Given the description of an element on the screen output the (x, y) to click on. 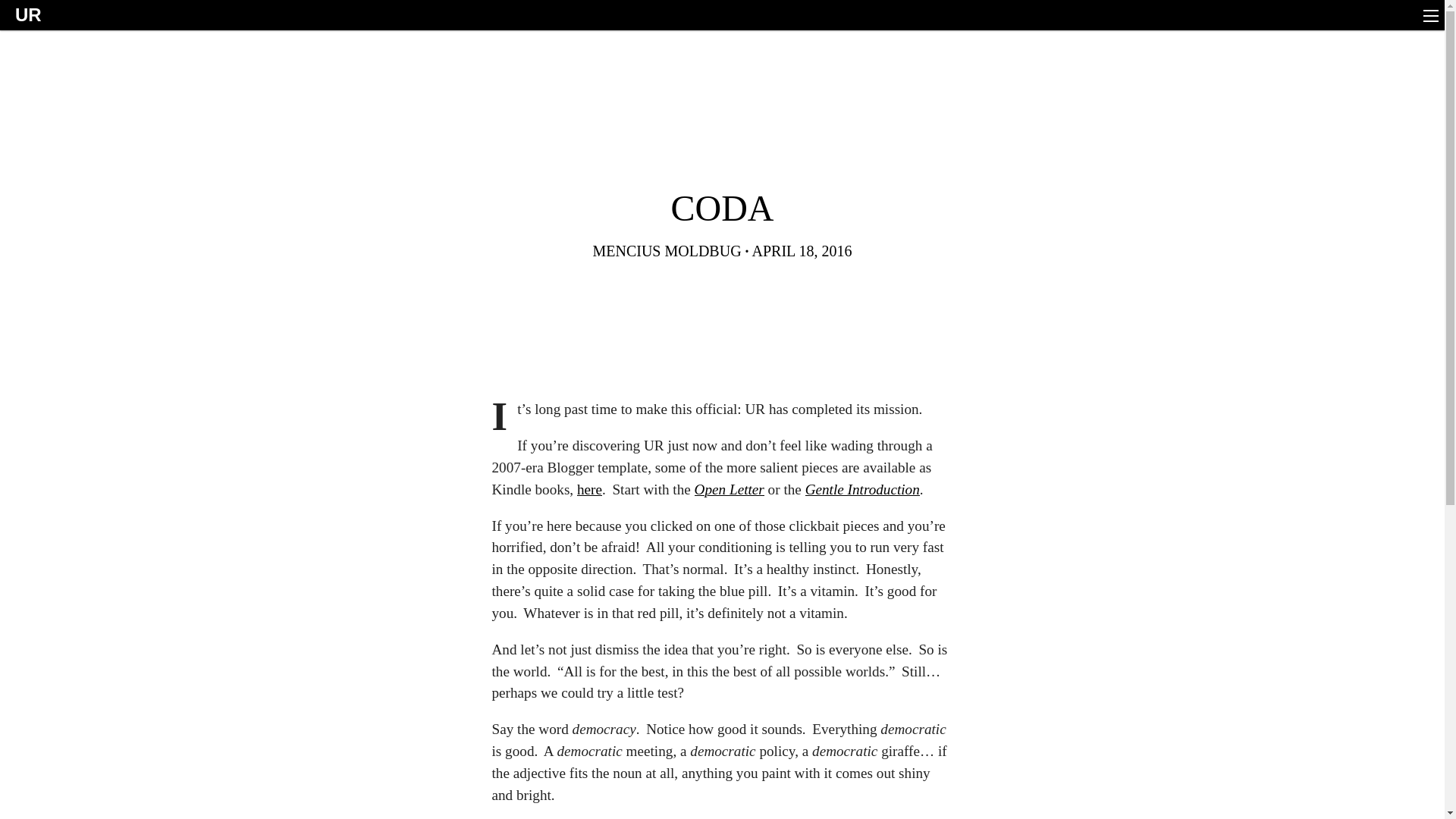
UR (23, 16)
